Given the description of an element on the screen output the (x, y) to click on. 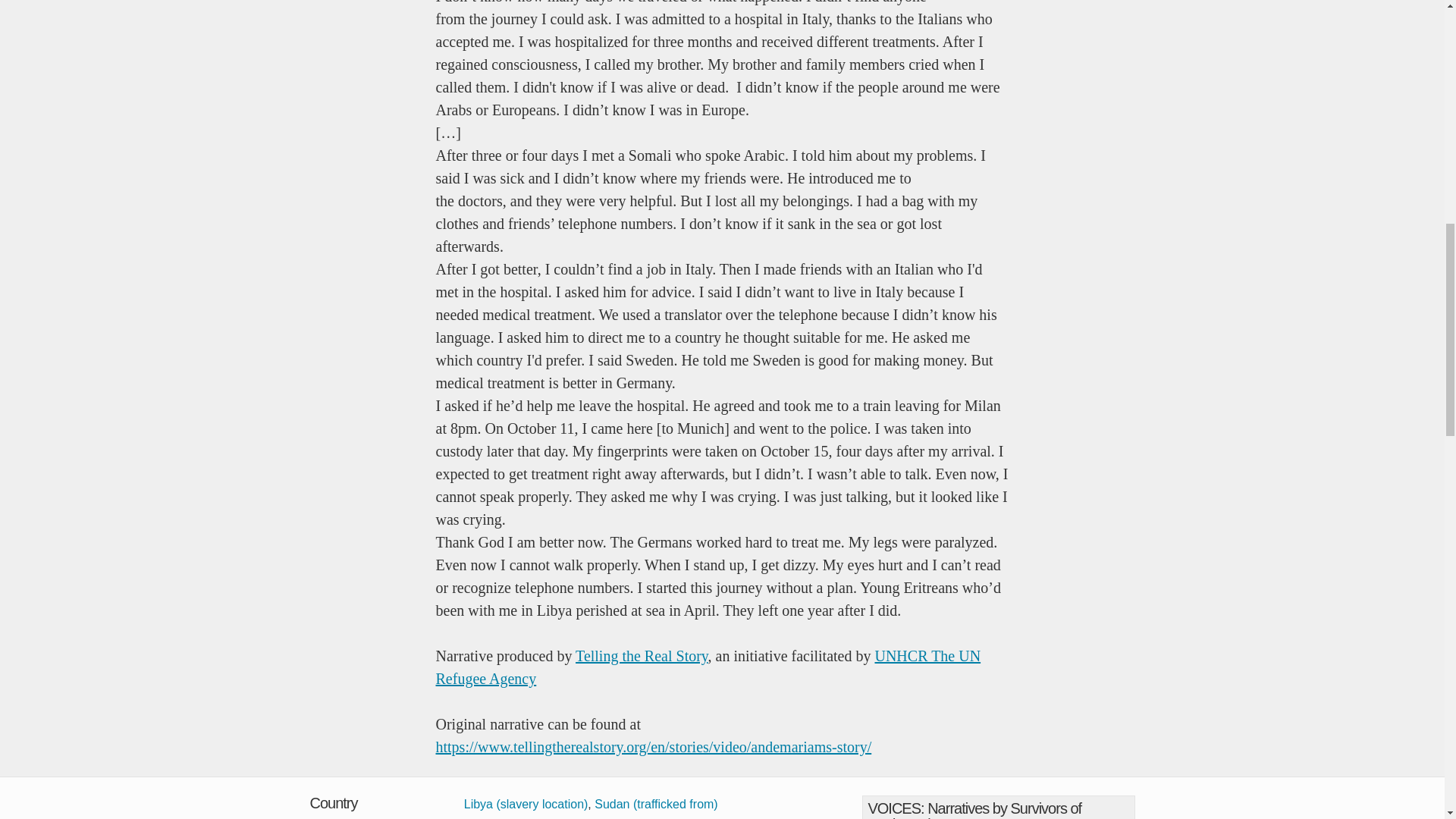
Telling the Real Story (641, 655)
UNHCR The UN Refugee Agency (707, 667)
